Given the description of an element on the screen output the (x, y) to click on. 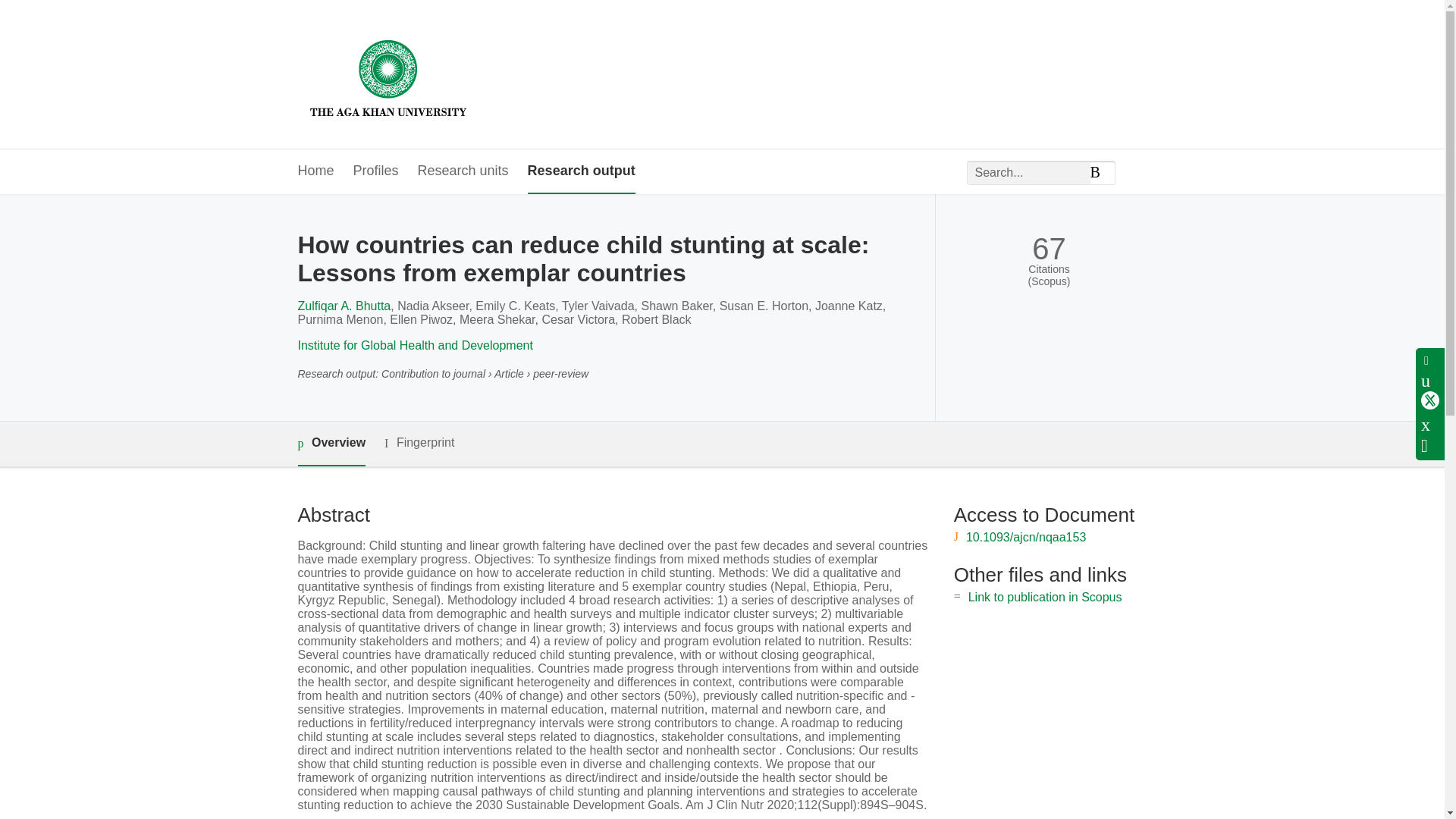
Research output (580, 171)
Institute for Global Health and Development (414, 345)
Research units (462, 171)
Overview (331, 443)
Zulfiqar A. Bhutta (343, 305)
Link to publication in Scopus (1045, 596)
The Aga Khan University Home (388, 74)
Profiles (375, 171)
Fingerprint (419, 443)
